Given the description of an element on the screen output the (x, y) to click on. 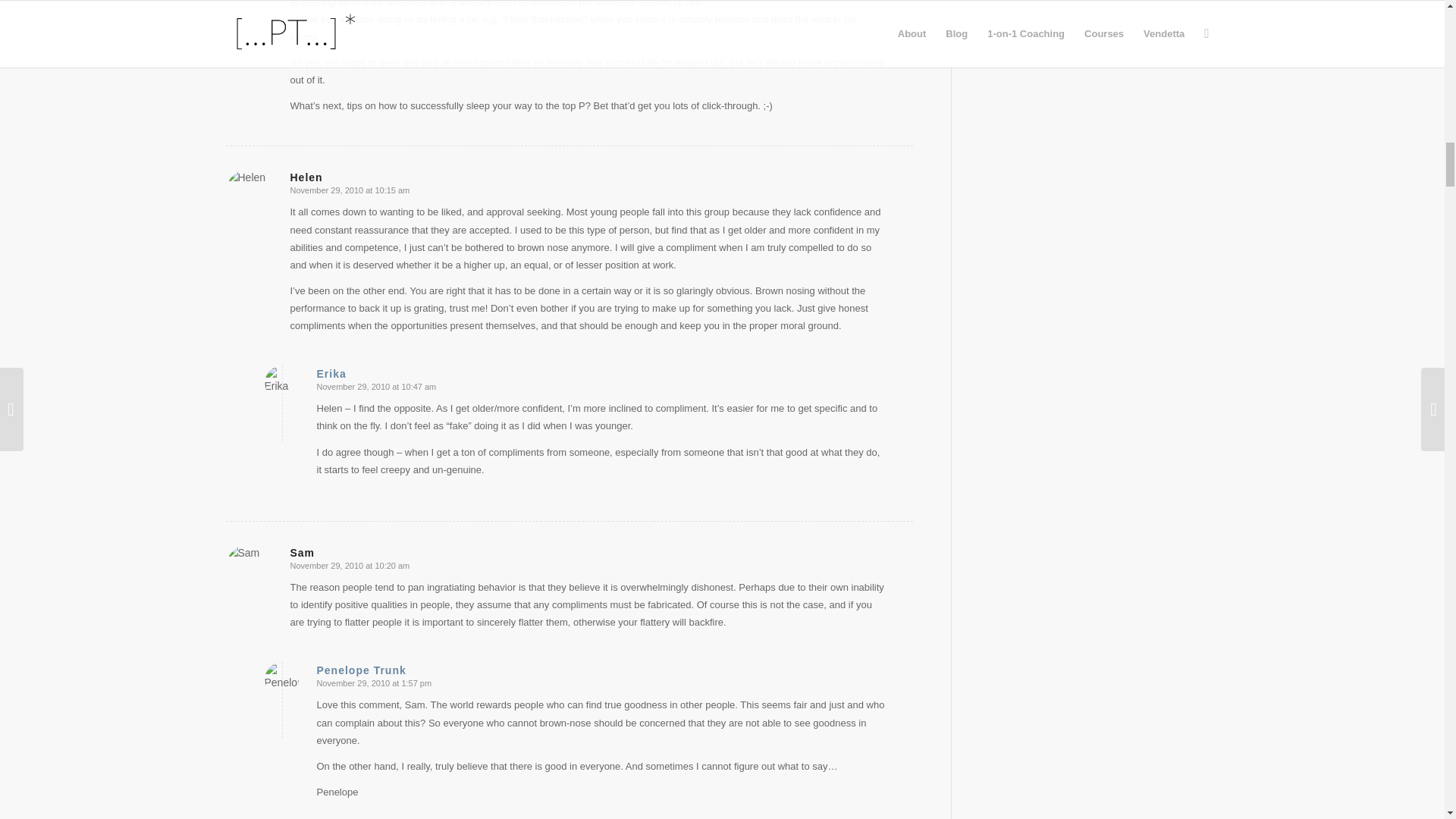
Penelope Trunk (361, 670)
November 29, 2010 at 10:15 am (349, 189)
Erika (331, 373)
November 29, 2010 at 10:20 am (349, 565)
November 29, 2010 at 10:47 am (376, 386)
November 29, 2010 at 1:57 pm (374, 682)
